Given the description of an element on the screen output the (x, y) to click on. 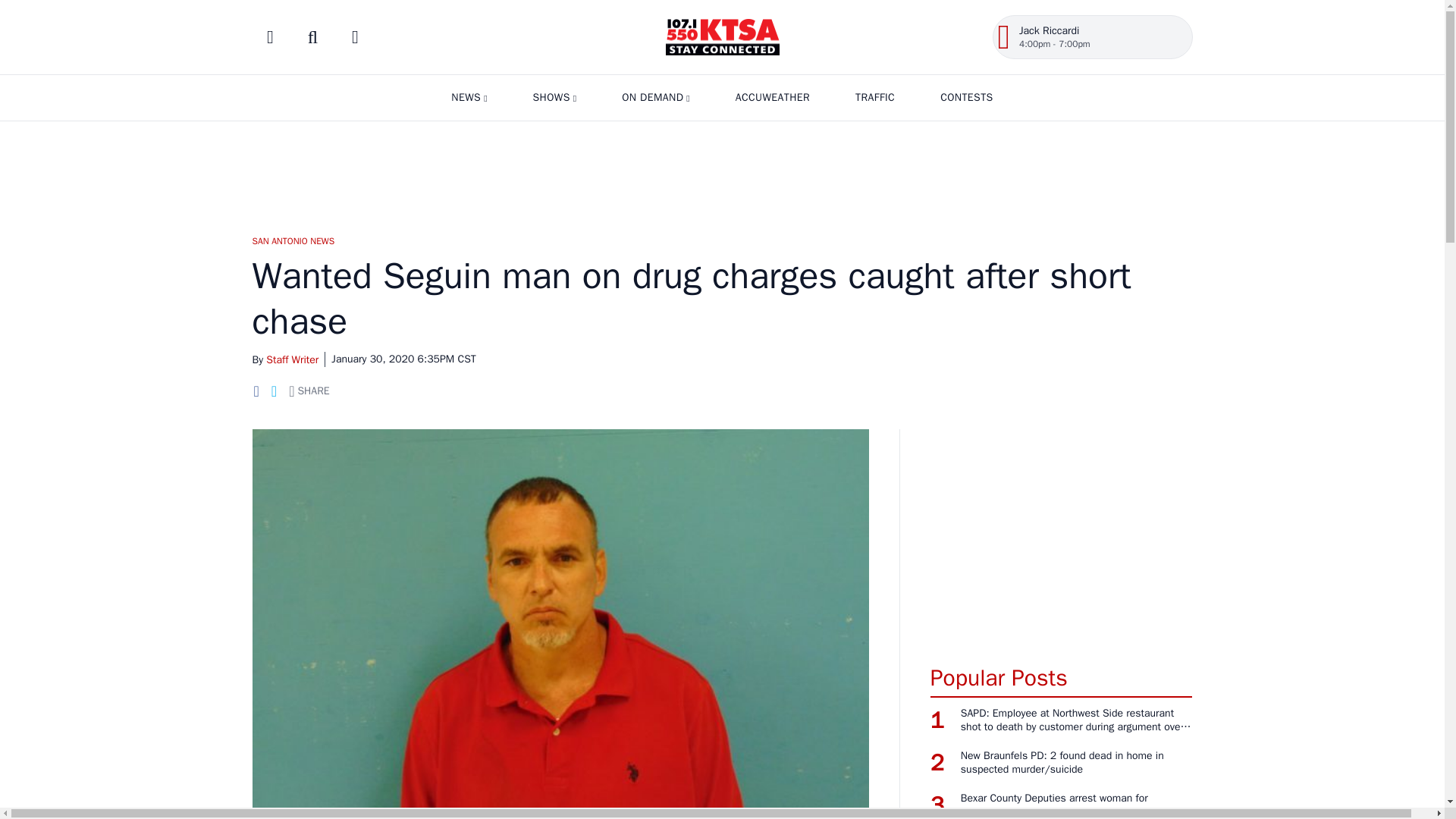
3rd party ad content (721, 170)
3rd party ad content (1060, 538)
